Given the description of an element on the screen output the (x, y) to click on. 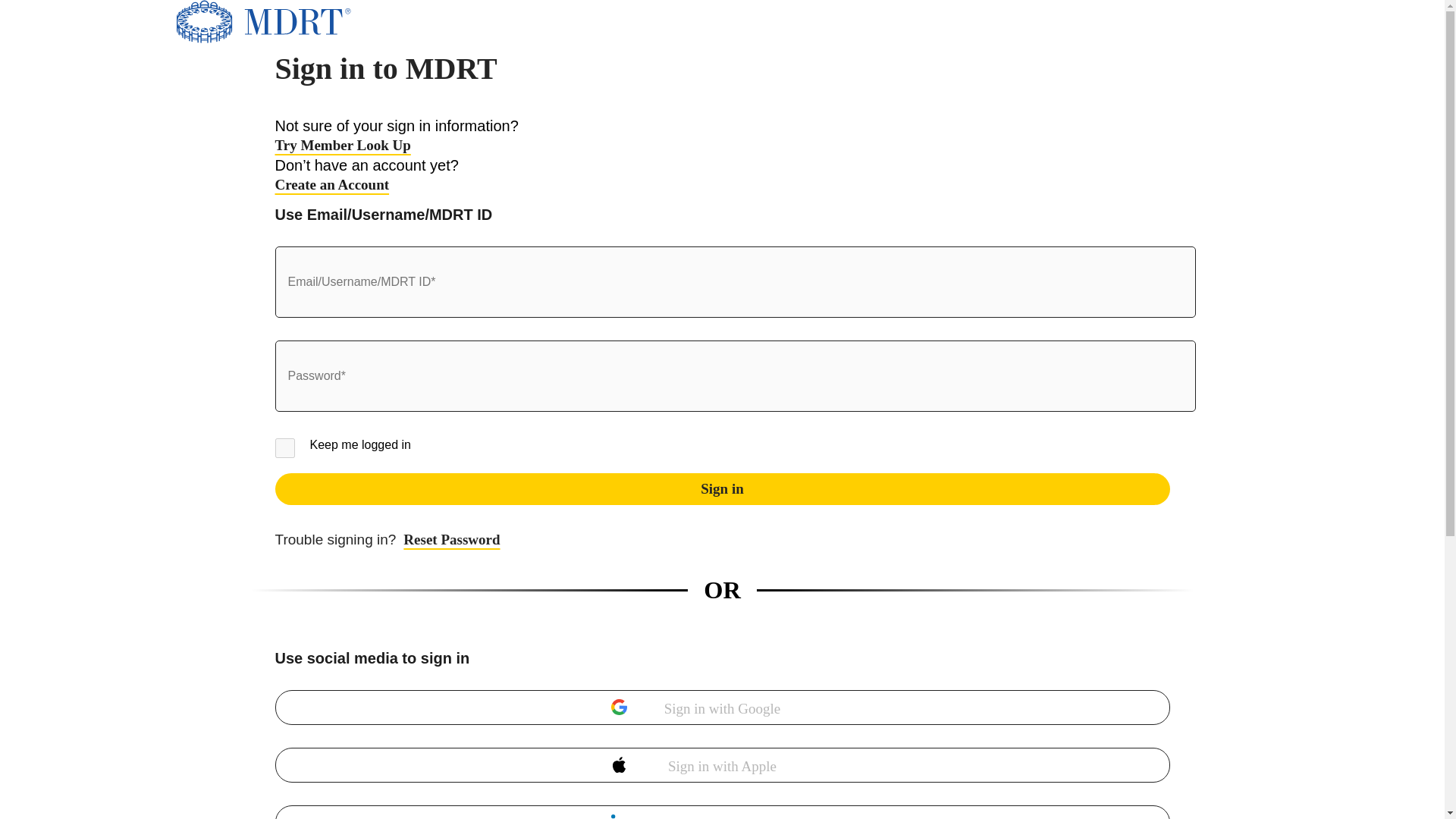
Create an Account (331, 184)
on (284, 447)
Sign in with Apple (722, 764)
Sign in with Google (722, 707)
Try Member Look Up (342, 145)
Sign in with LinkedIn (722, 812)
Sign in (722, 489)
Reset Password (387, 539)
